Given the description of an element on the screen output the (x, y) to click on. 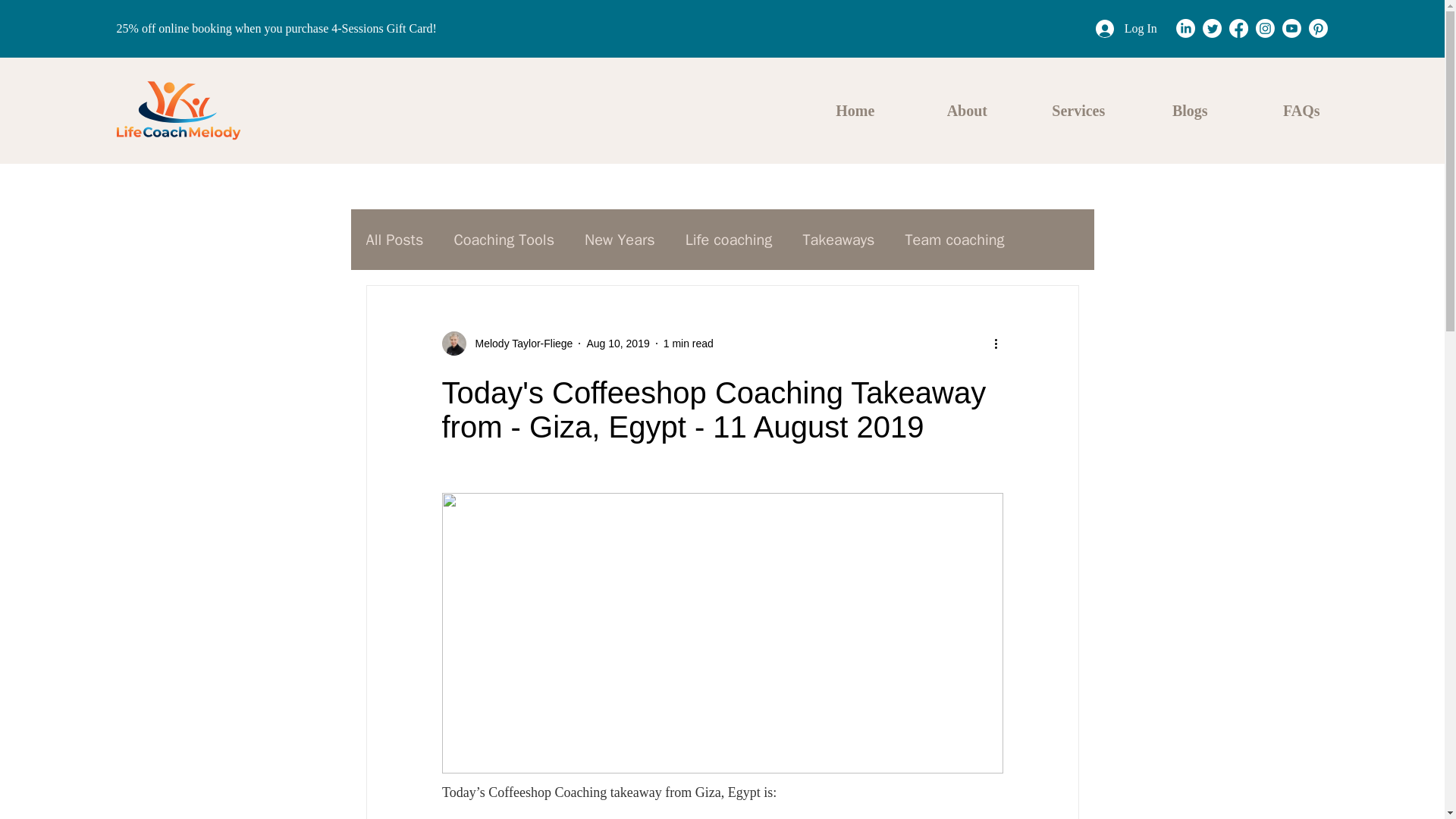
Home (855, 110)
All Posts (394, 239)
Aug 10, 2019 (617, 342)
Melody Taylor-Fliege (506, 343)
Log In (1125, 28)
Coaching Tools (503, 239)
FAQs (1301, 110)
Melody Taylor-Fliege (518, 342)
Services (1078, 110)
New Years (620, 239)
Takeaways (838, 239)
Blogs (1190, 110)
Life coaching (729, 239)
About (967, 110)
1 min read (688, 342)
